Given the description of an element on the screen output the (x, y) to click on. 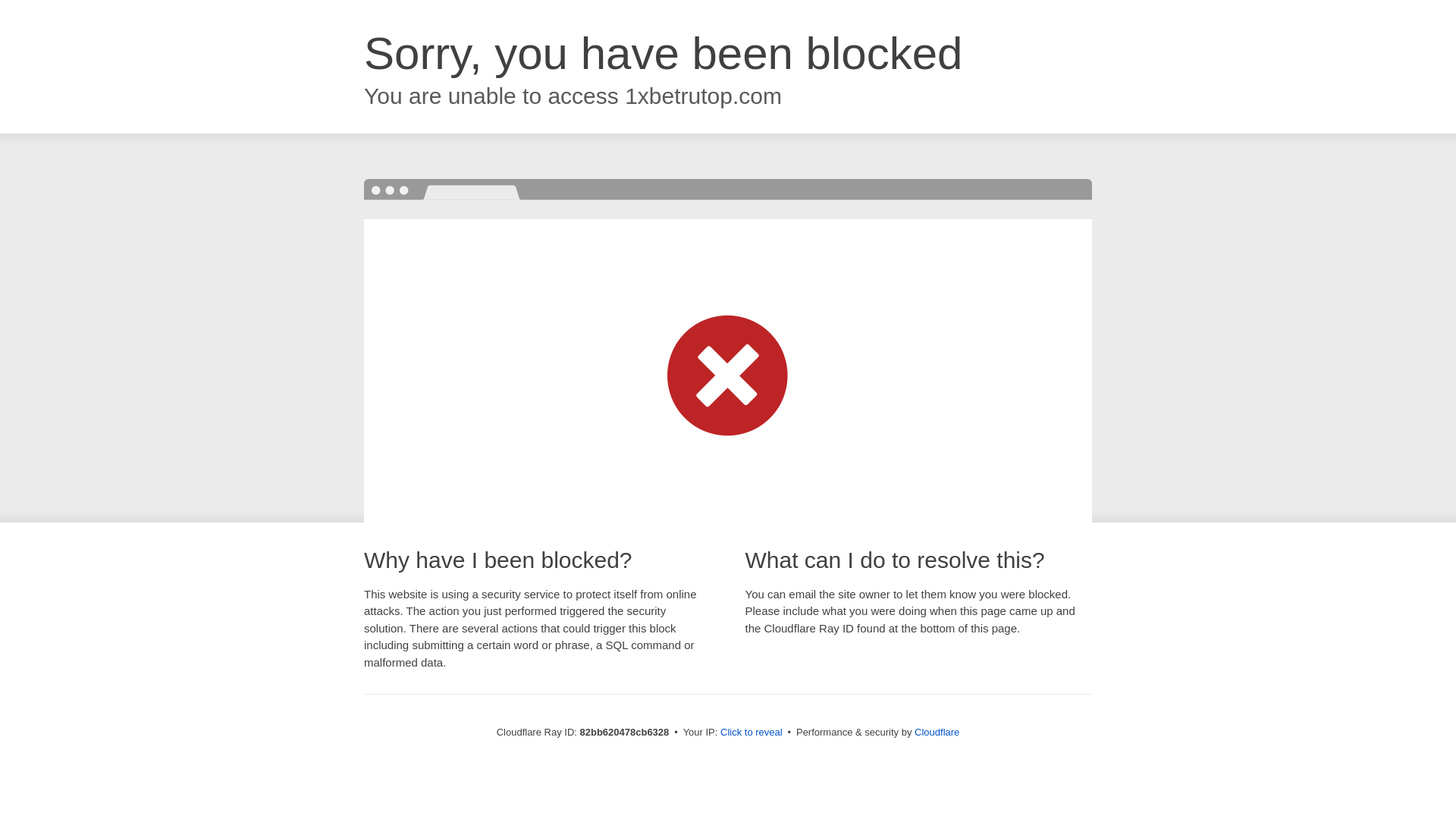
Click to reveal Element type: text (751, 732)
Cloudflare Element type: text (936, 731)
